Given the description of an element on the screen output the (x, y) to click on. 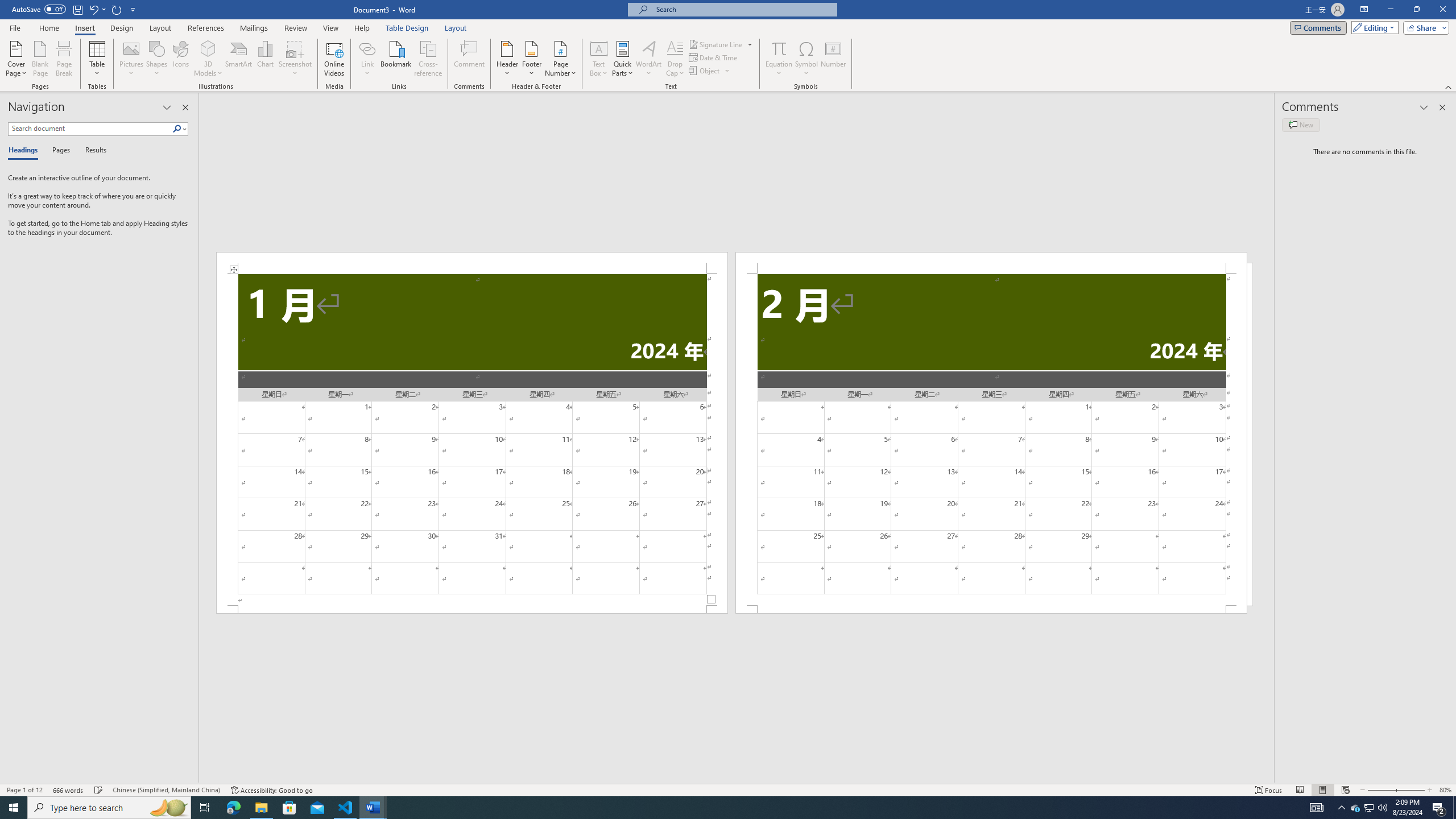
Close pane (185, 107)
Insert (83, 28)
Save (77, 9)
Link (367, 48)
Search (179, 128)
Search (177, 128)
Pages (59, 150)
Page Break (63, 58)
Mode (1372, 27)
File Tab (15, 27)
Page Number Page 1 of 12 (24, 790)
More Options (778, 68)
Signature Line (716, 44)
